Given the description of an element on the screen output the (x, y) to click on. 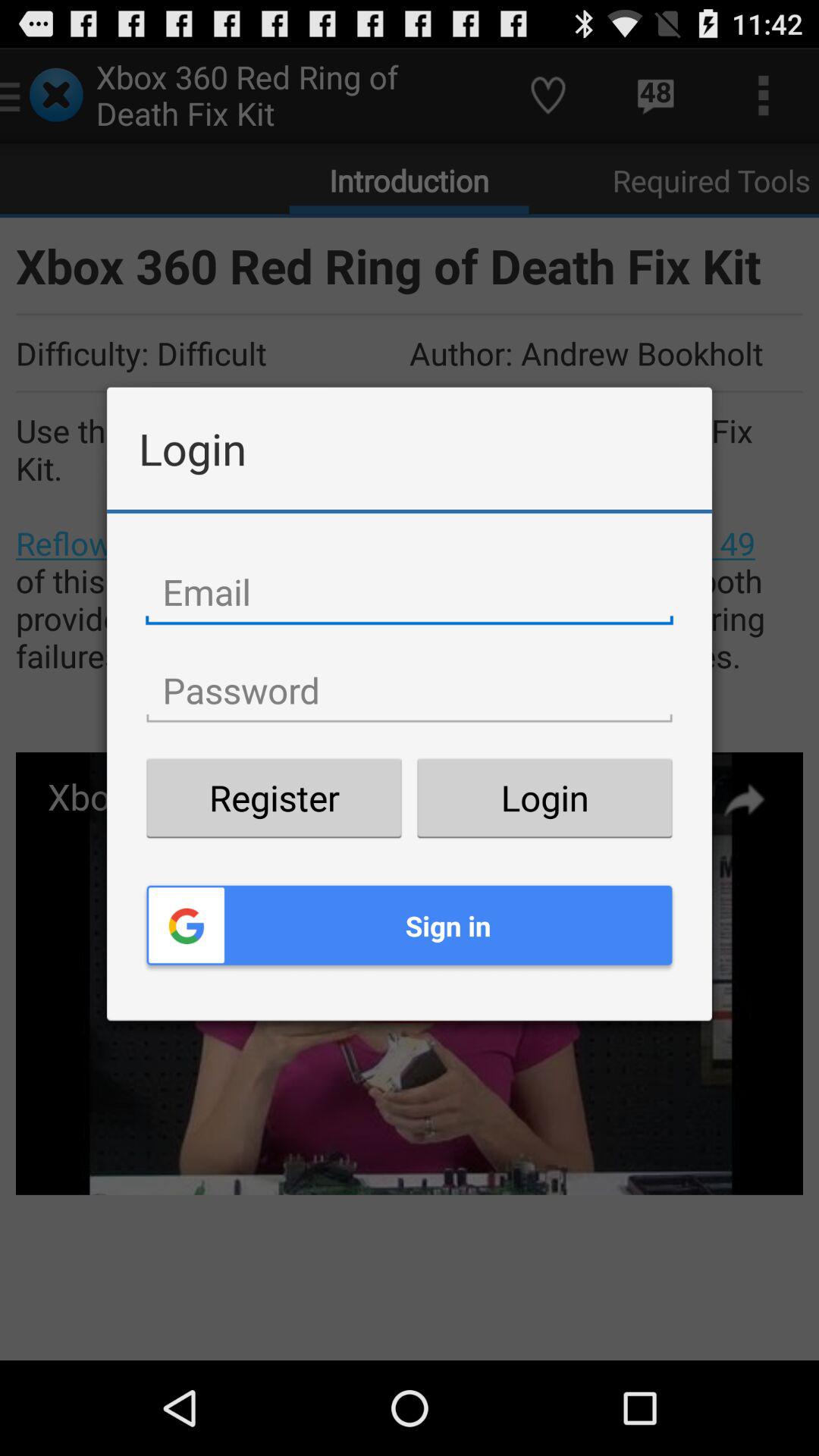
type your password (409, 690)
